Given the description of an element on the screen output the (x, y) to click on. 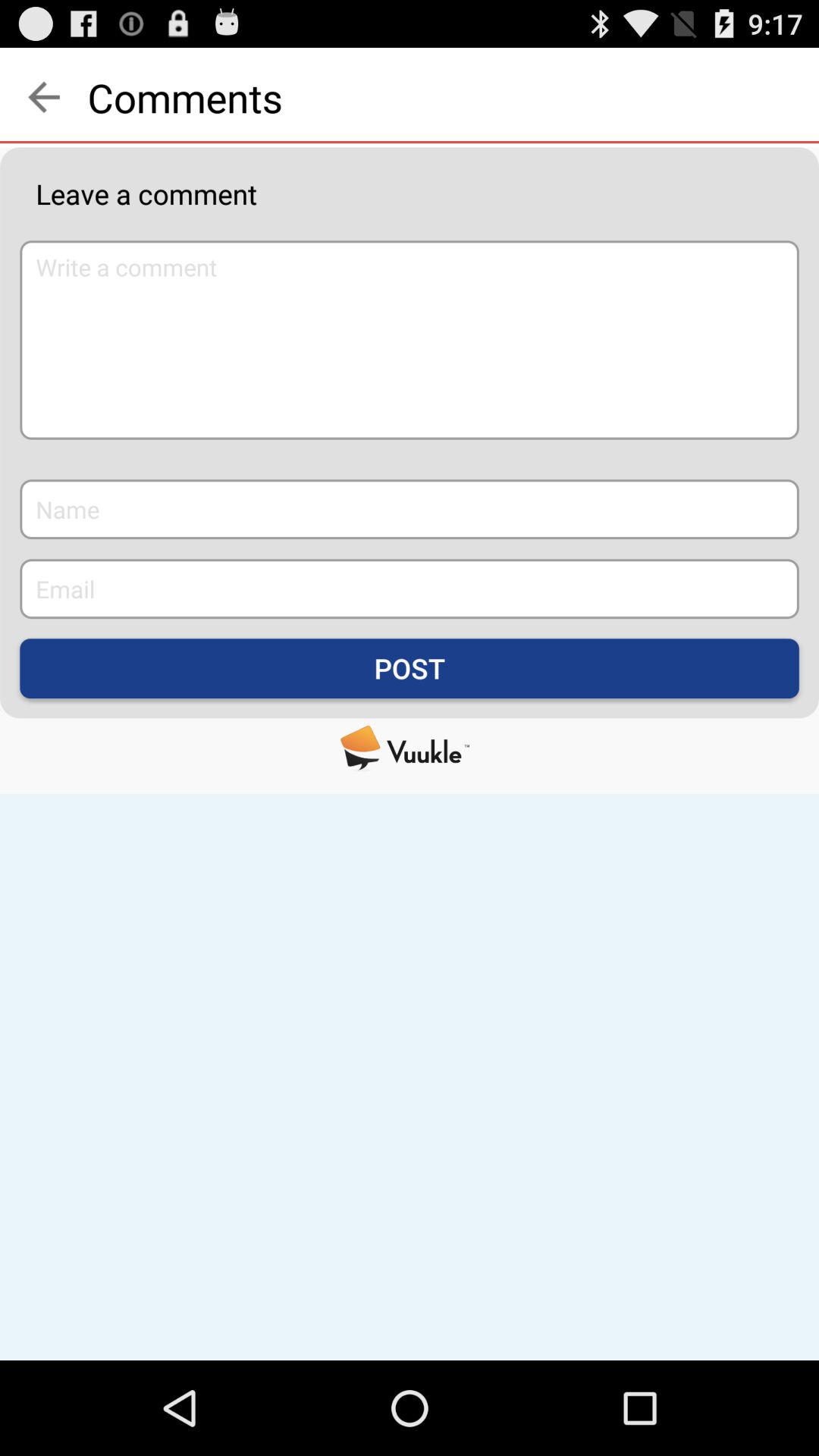
enter email (409, 588)
